Given the description of an element on the screen output the (x, y) to click on. 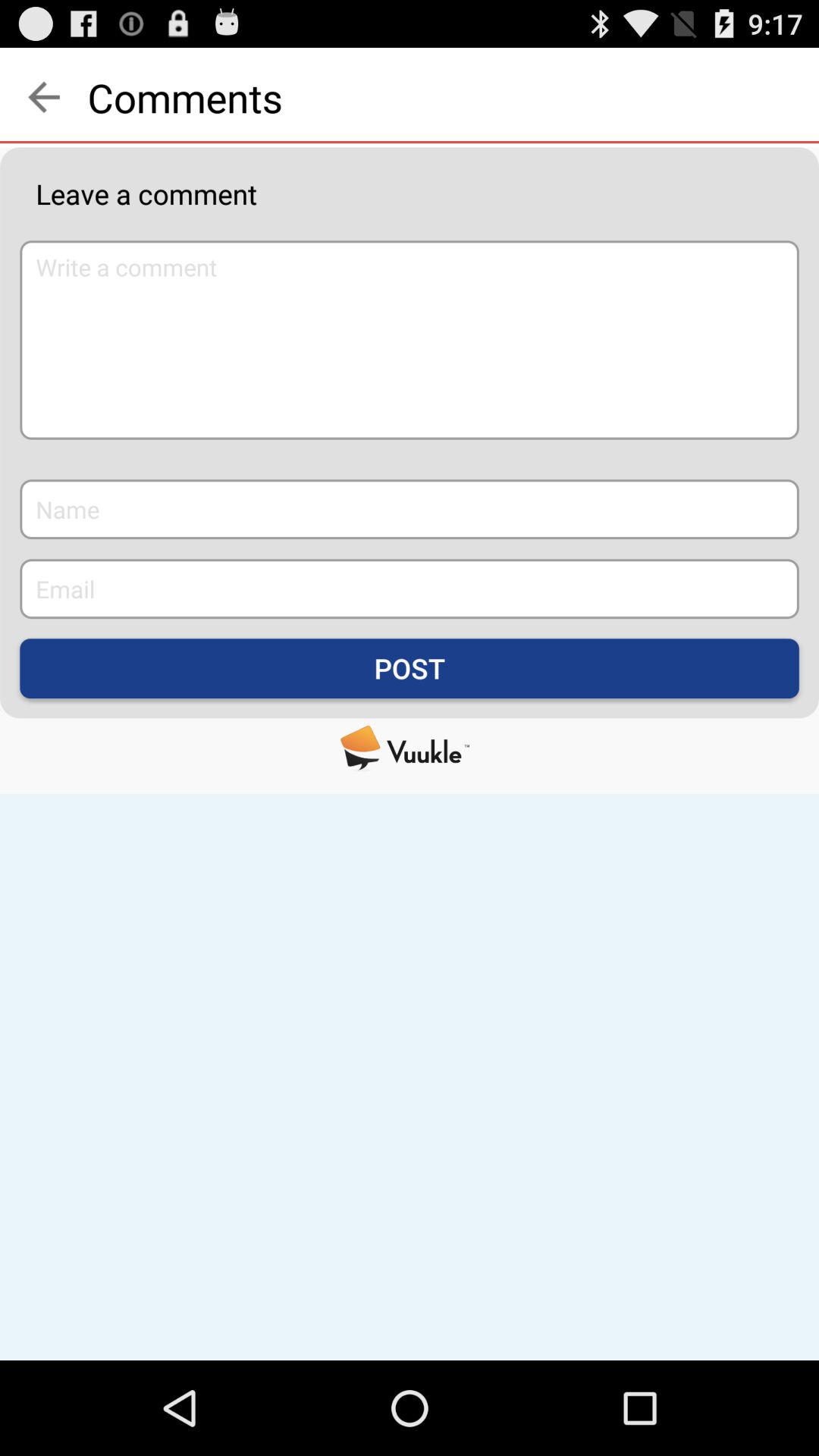
enter email (409, 588)
